Given the description of an element on the screen output the (x, y) to click on. 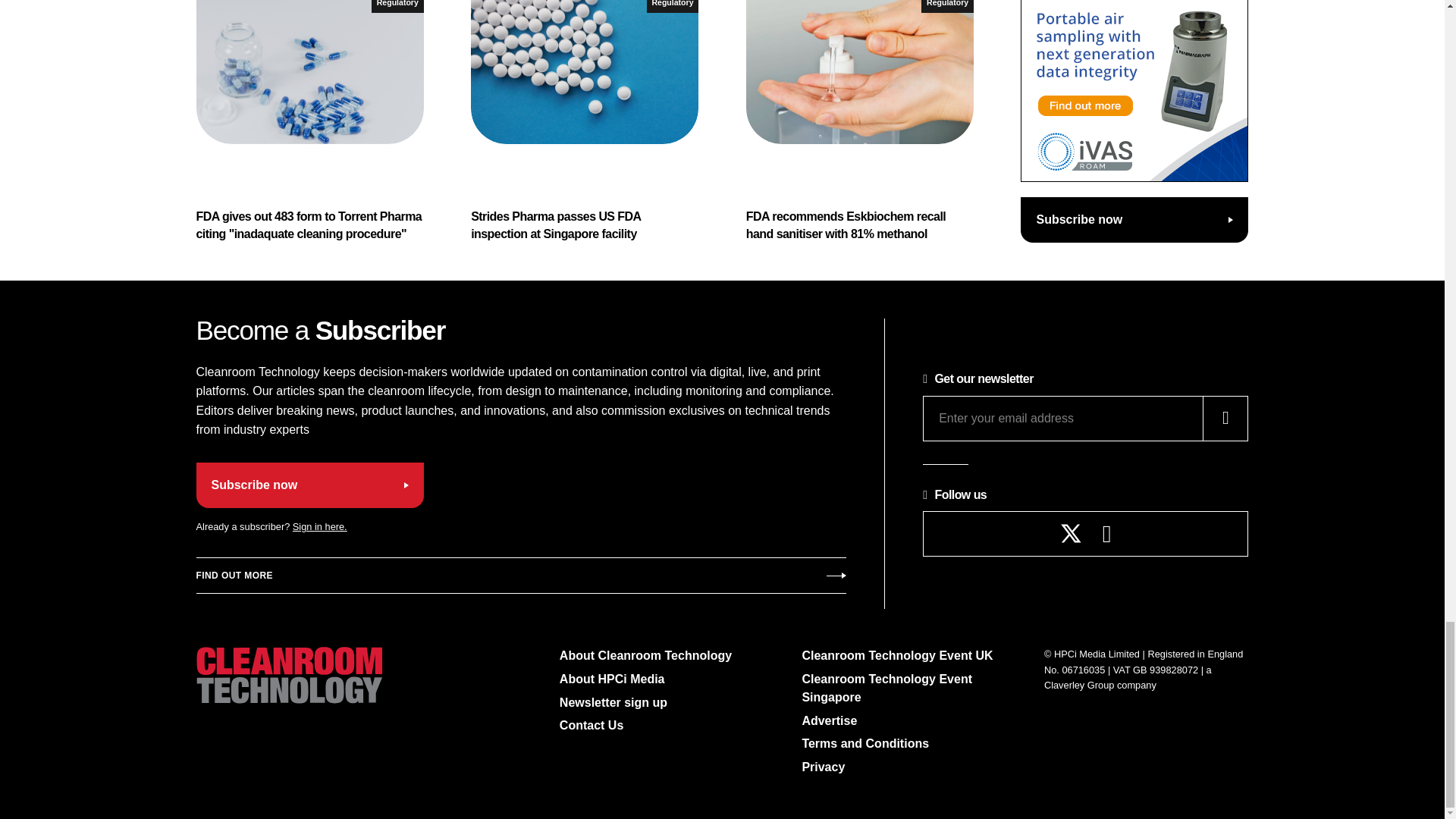
Follow Cleanroom Technology on X (1070, 533)
Subscribe (520, 575)
